Given the description of an element on the screen output the (x, y) to click on. 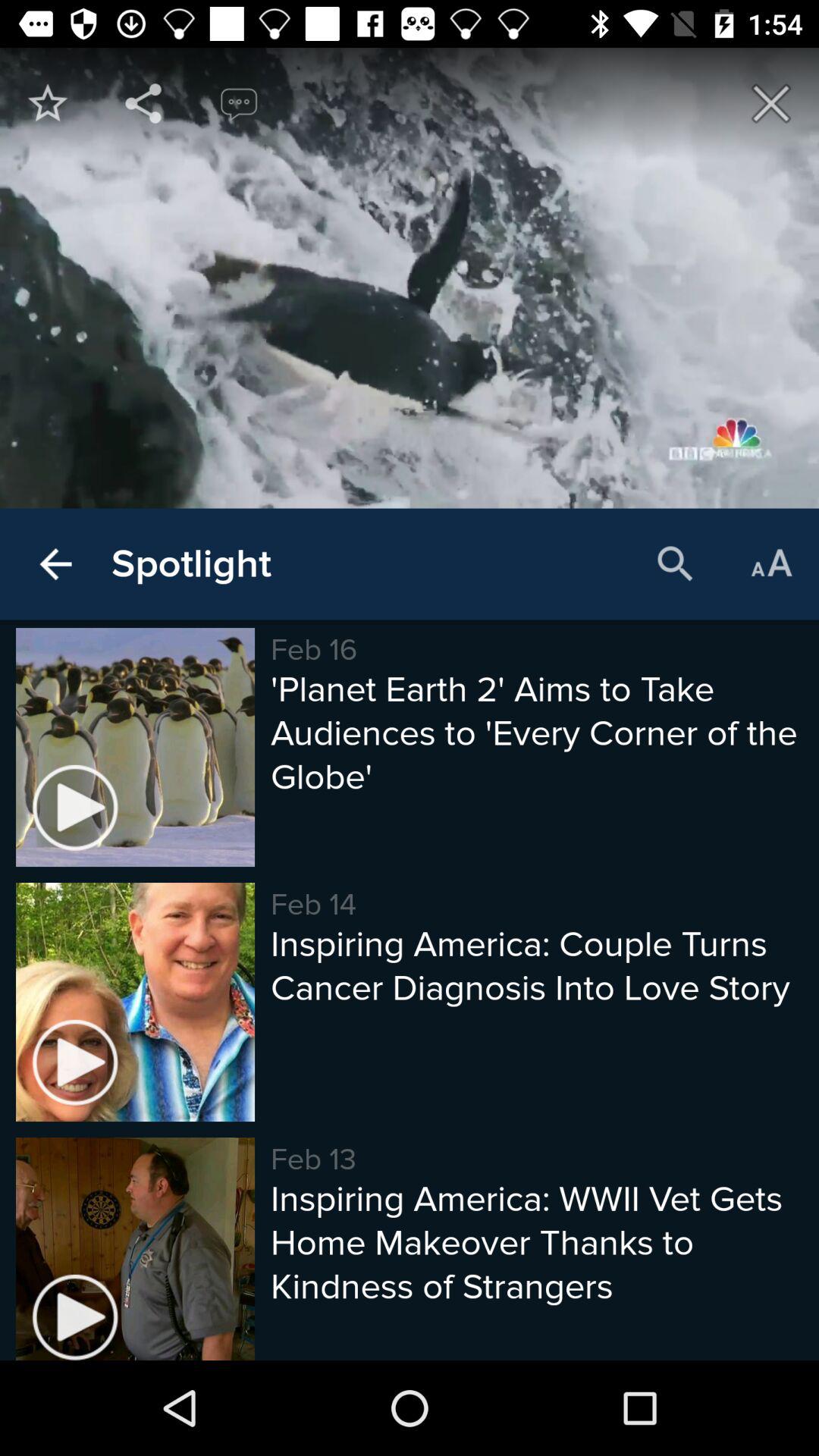
select the item next to the feb 16 icon (191, 563)
